Given the description of an element on the screen output the (x, y) to click on. 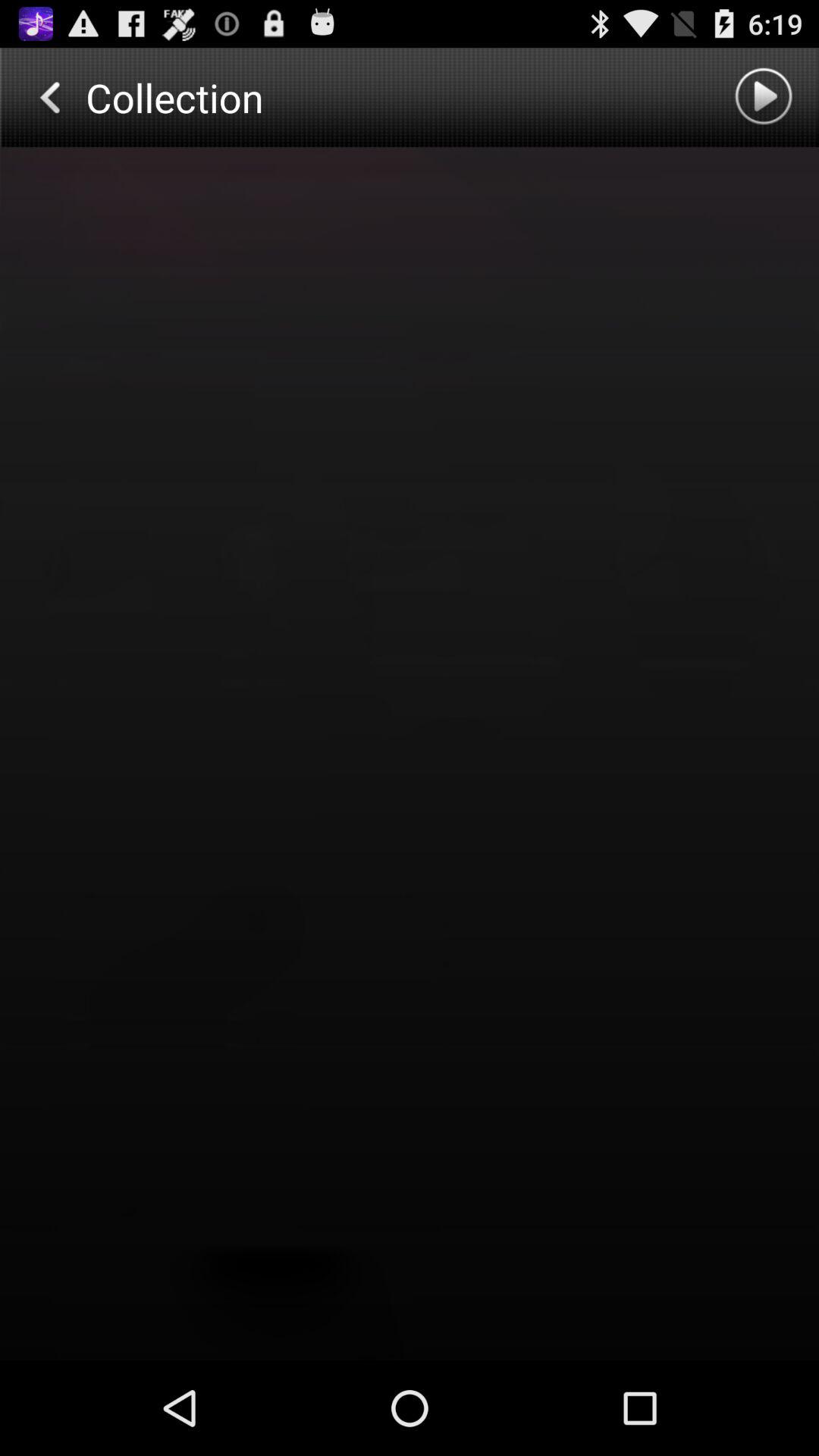
play music collection (765, 97)
